Given the description of an element on the screen output the (x, y) to click on. 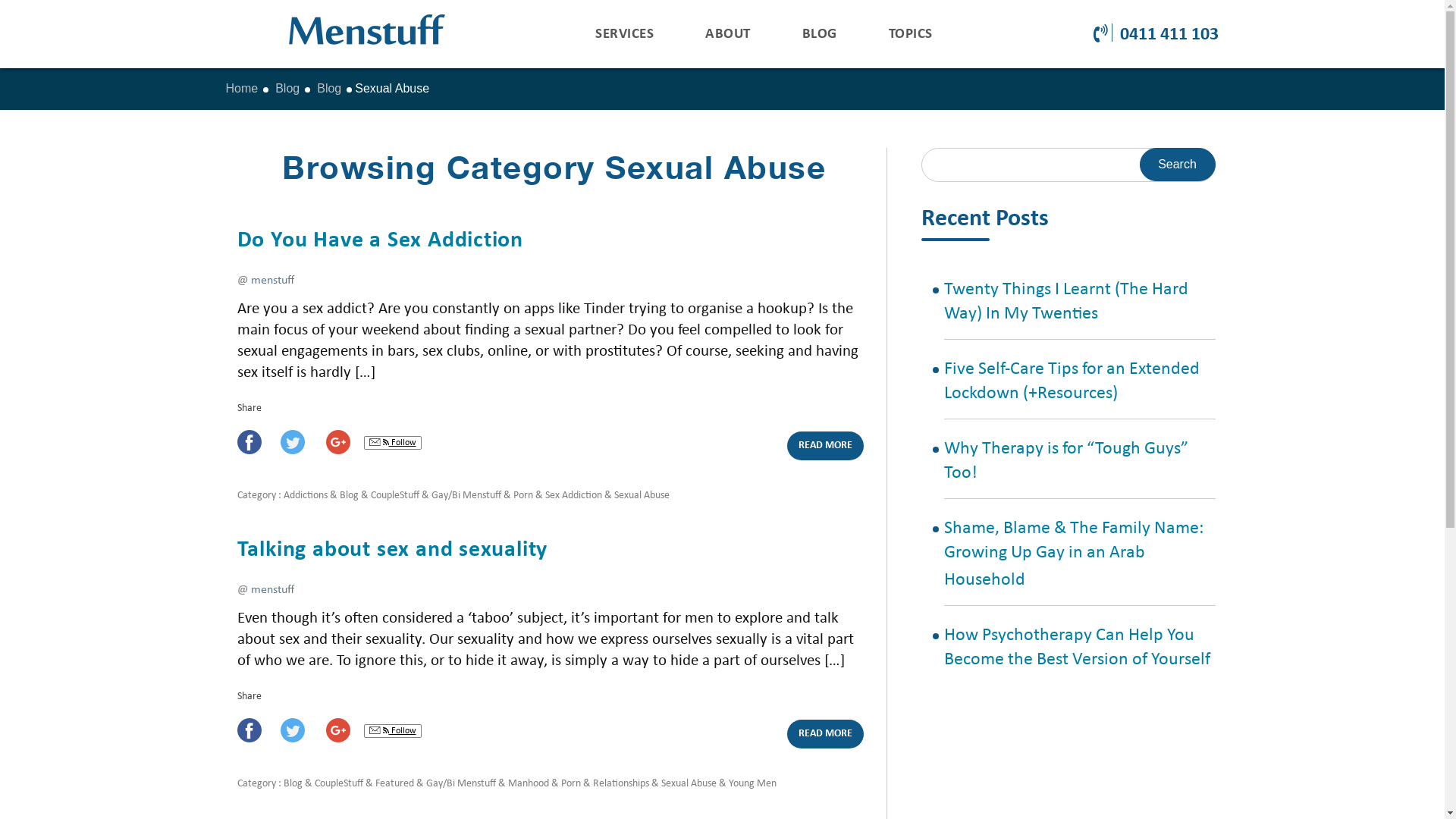
Do You Have a Sex Addiction Element type: text (379, 240)
Twenty Things I Learnt (The Hard Way) In My Twenties Element type: text (1066, 301)
Email, RSS Element type: hover (378, 443)
Porn Element type: text (570, 783)
Addictions Element type: text (305, 495)
menstuff Element type: text (271, 280)
Manhood Element type: text (528, 783)
READ MORE Element type: text (825, 733)
Sex Addiction Element type: text (572, 495)
0411 411 103 Element type: text (1155, 34)
Blog Element type: text (292, 783)
Featured Element type: text (393, 783)
menstuff Element type: text (271, 589)
Porn Element type: text (522, 495)
Five Self-Care Tips for an Extended Lockdown (+Resources) Element type: text (1071, 381)
Blog Element type: text (288, 88)
Sexual Abuse Element type: text (641, 495)
Search Element type: text (1176, 164)
ABOUT Element type: text (727, 35)
Gay/Bi Menstuff Element type: text (465, 495)
Blog Element type: text (348, 495)
SERVICES Element type: text (624, 35)
READ MORE Element type: text (825, 445)
Talking about sex and sexuality Element type: text (391, 549)
Email, RSS Element type: hover (378, 731)
CoupleStuff Element type: text (394, 495)
BLOG Element type: text (819, 35)
Gay/Bi Menstuff Element type: text (460, 783)
Young Men Element type: text (751, 783)
CoupleStuff Element type: text (337, 783)
Relationships Element type: text (621, 783)
Blog Element type: text (329, 88)
Follow Element type: text (392, 730)
TOPICS Element type: text (910, 35)
Home Element type: text (242, 88)
Follow Element type: text (392, 442)
Sexual Abuse Element type: text (688, 783)
